Given the description of an element on the screen output the (x, y) to click on. 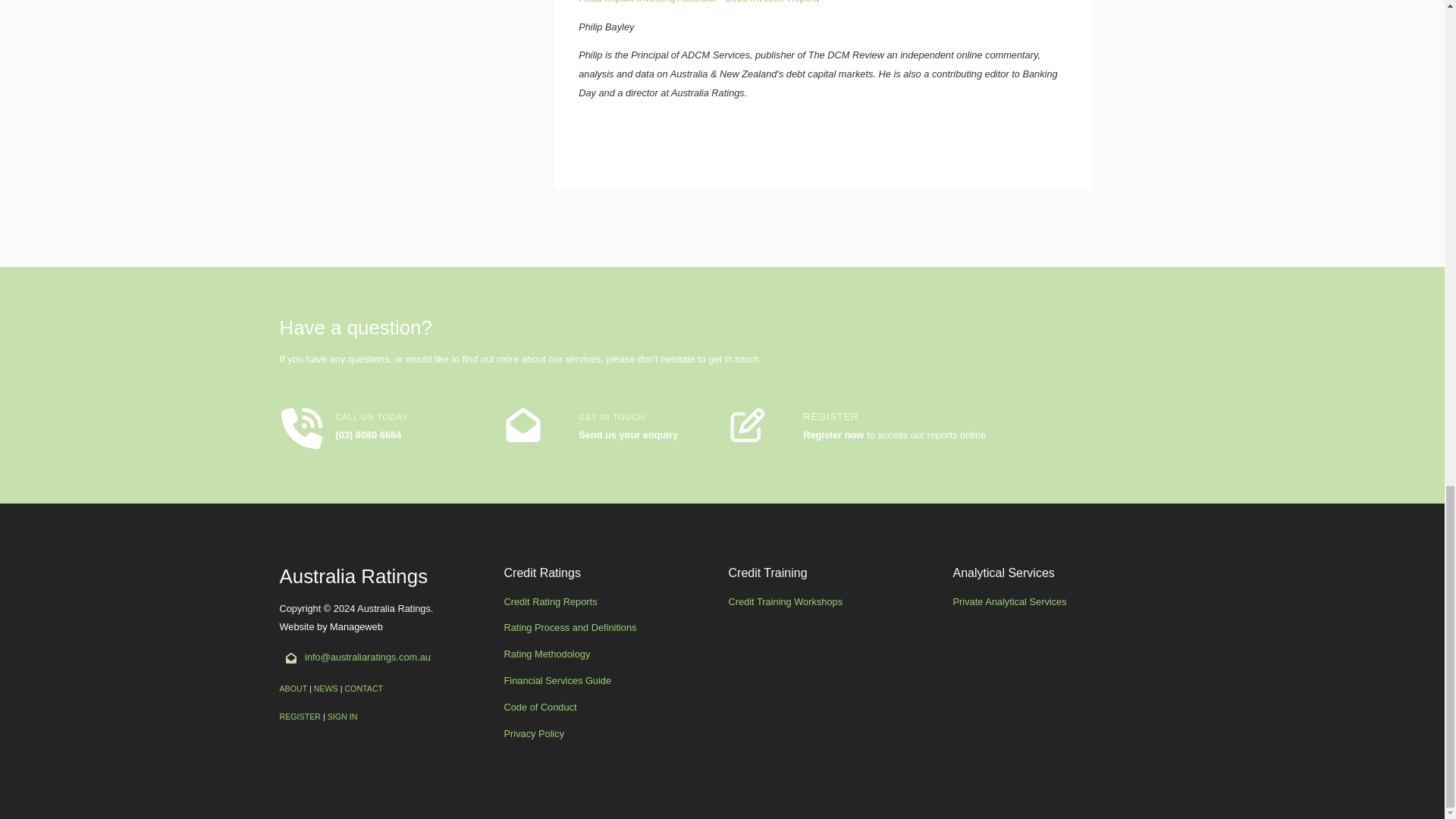
CONTACT (362, 687)
ABOUT (293, 687)
NEWS (325, 687)
Send us your enquiry (628, 434)
Website by Manageweb (355, 635)
REGISTER (299, 716)
Credit Rating Reports (549, 601)
Register now (833, 434)
SIGN IN (342, 716)
Impact Investing Australia 2016 Investor Report (697, 2)
